Given the description of an element on the screen output the (x, y) to click on. 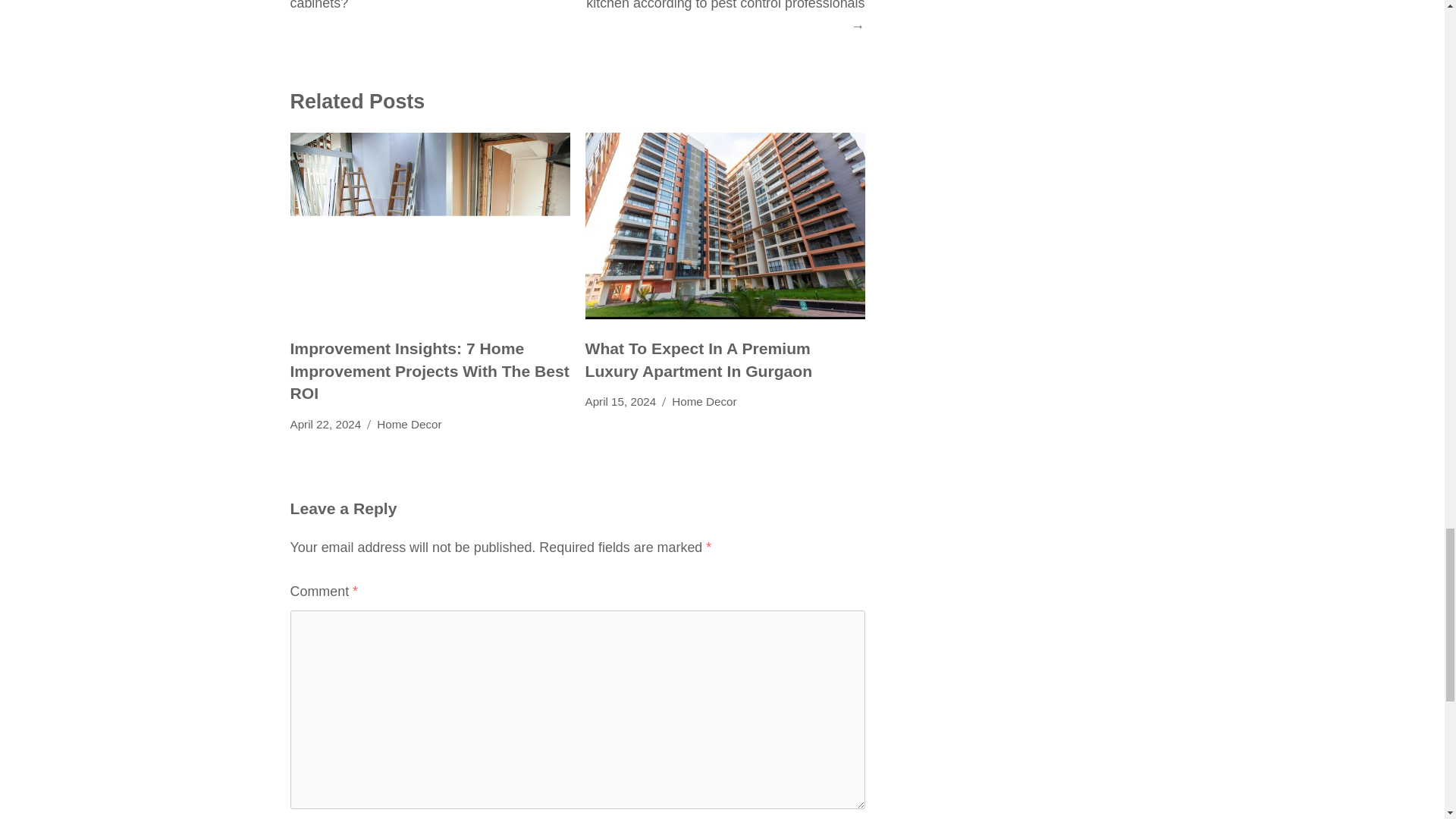
April 15, 2024 (620, 402)
Home Decor (409, 424)
What To Expect In A Premium Luxury Apartment In Gurgaon (698, 359)
Home Decor (703, 402)
April 22, 2024 (325, 424)
